Given the description of an element on the screen output the (x, y) to click on. 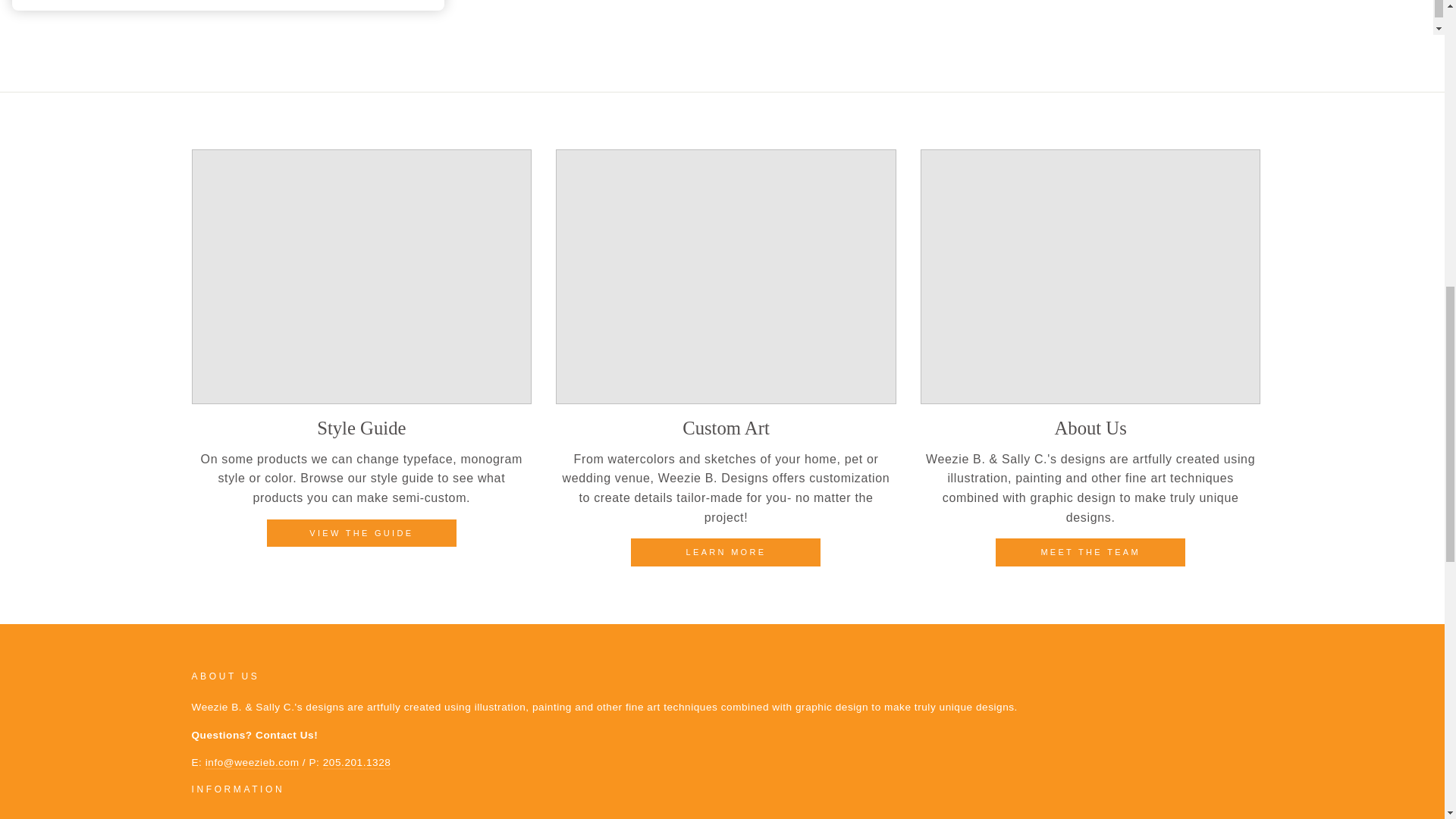
tel:205.201.1328 (357, 762)
